Given the description of an element on the screen output the (x, y) to click on. 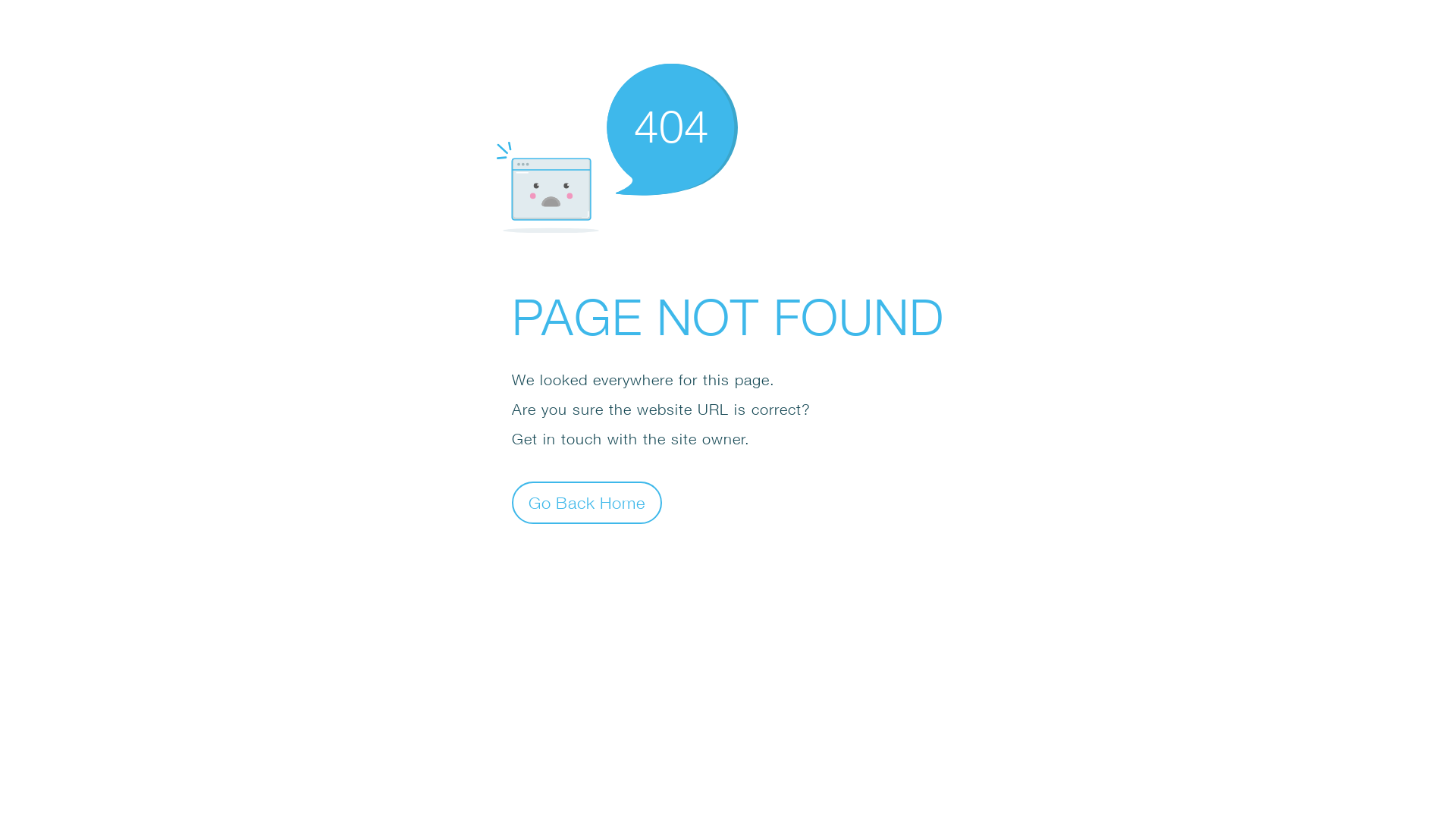
Go Back Home Element type: text (586, 502)
